Given the description of an element on the screen output the (x, y) to click on. 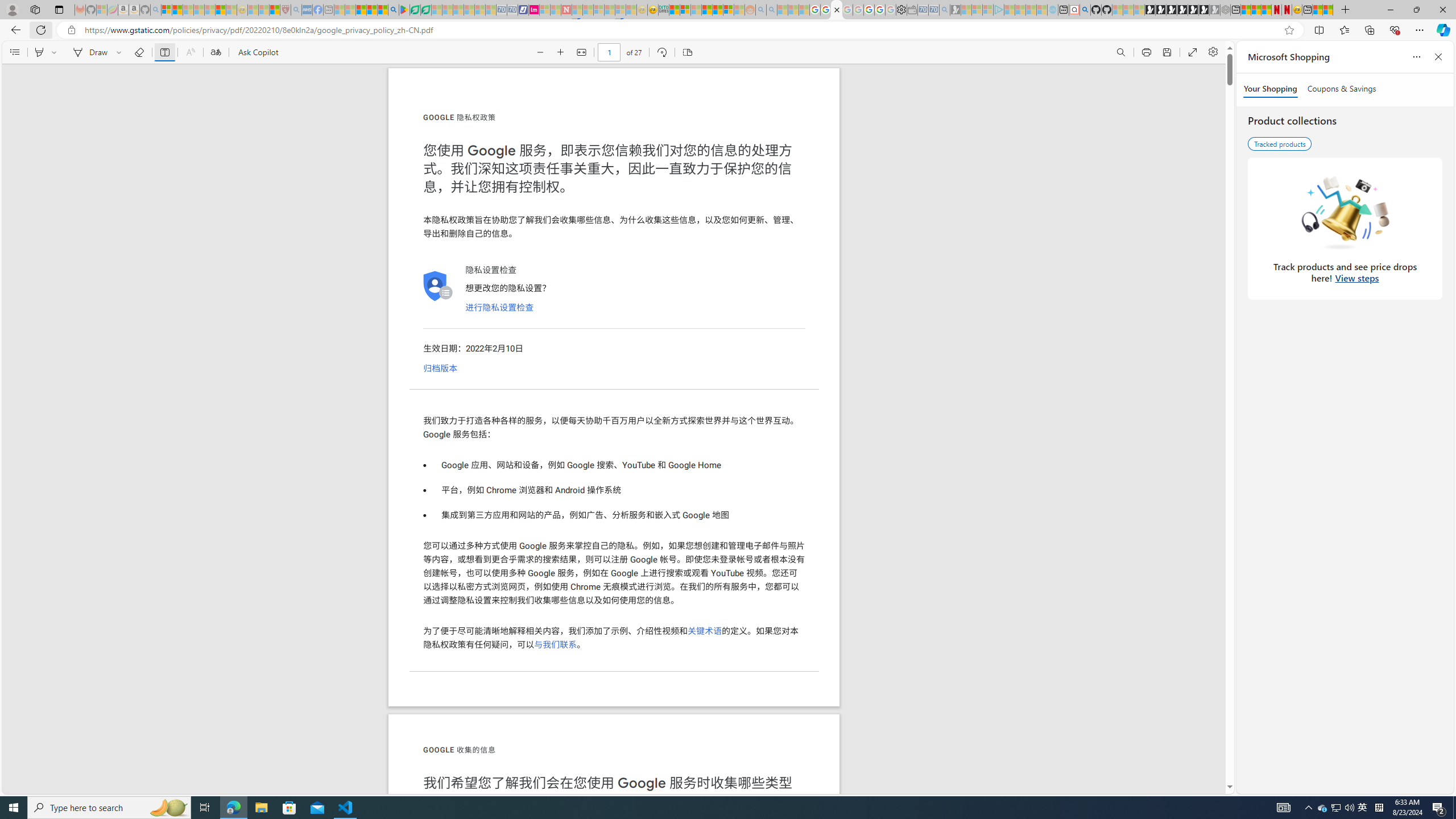
Print (Ctrl+P) (1146, 52)
Select a highlight color (56, 52)
Erase (138, 52)
